Given the description of an element on the screen output the (x, y) to click on. 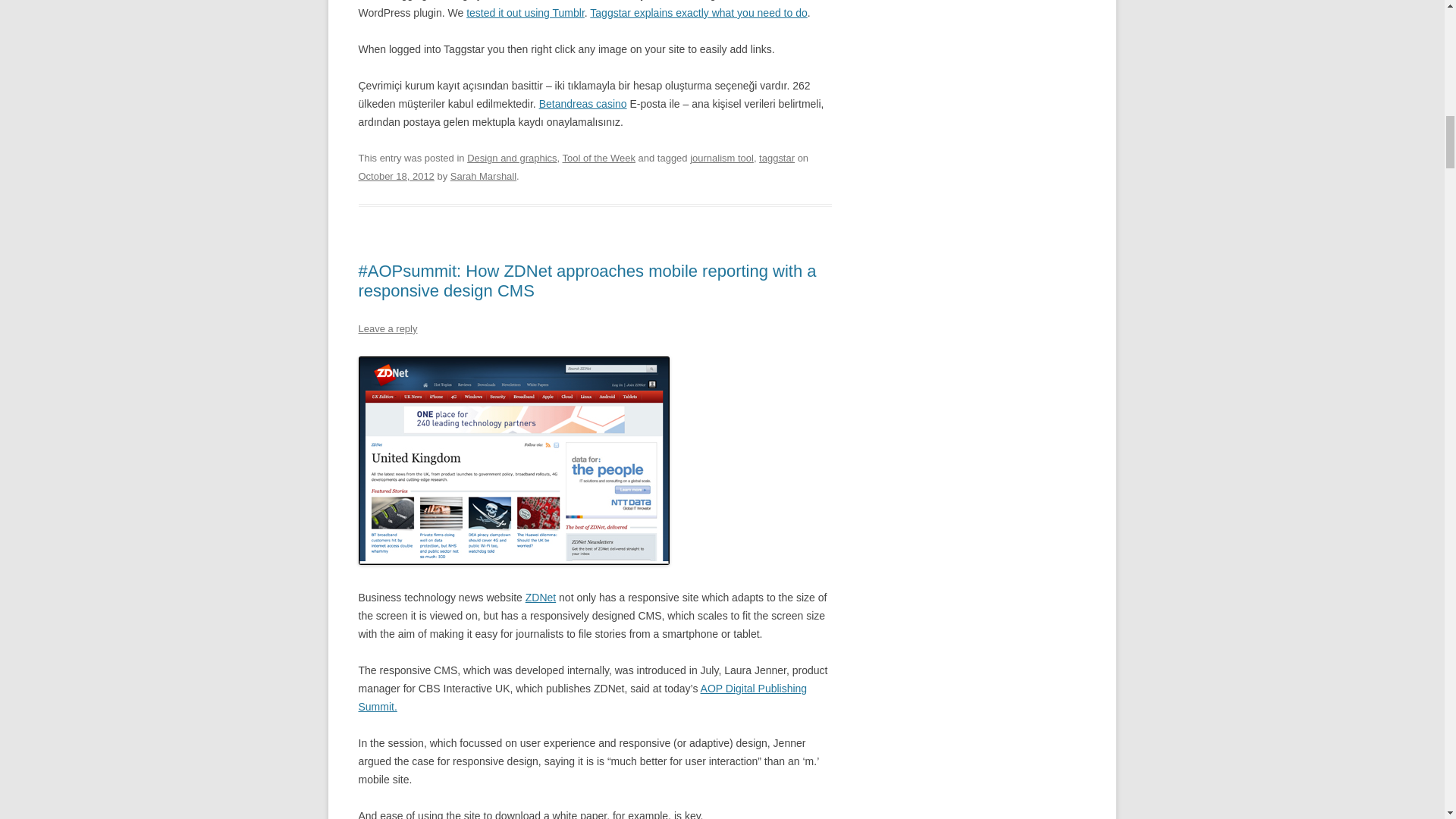
taggstar (776, 157)
tested it out using Tumblr (525, 12)
View all posts by Sarah Marshall (482, 175)
Sarah Marshall (482, 175)
Design and graphics (511, 157)
October 18, 2012 (395, 175)
ZDNet (540, 597)
AOP Digital Publishing Summit. (582, 697)
Betandreas casino (582, 103)
Taggstar explains exactly what you need to do (697, 12)
